Given the description of an element on the screen output the (x, y) to click on. 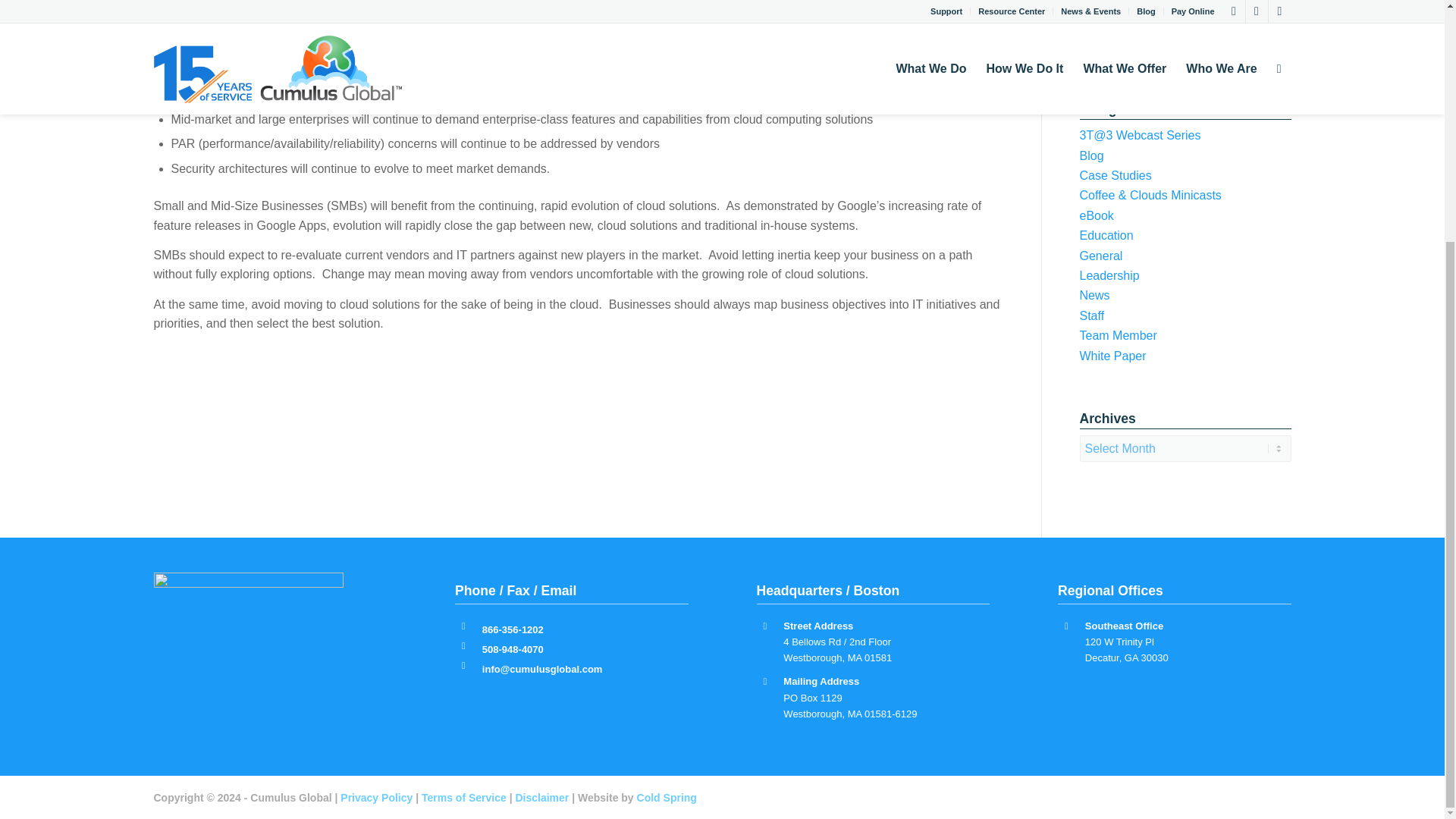
866-356-1202 (512, 629)
508-948-4070 (512, 649)
